Given the description of an element on the screen output the (x, y) to click on. 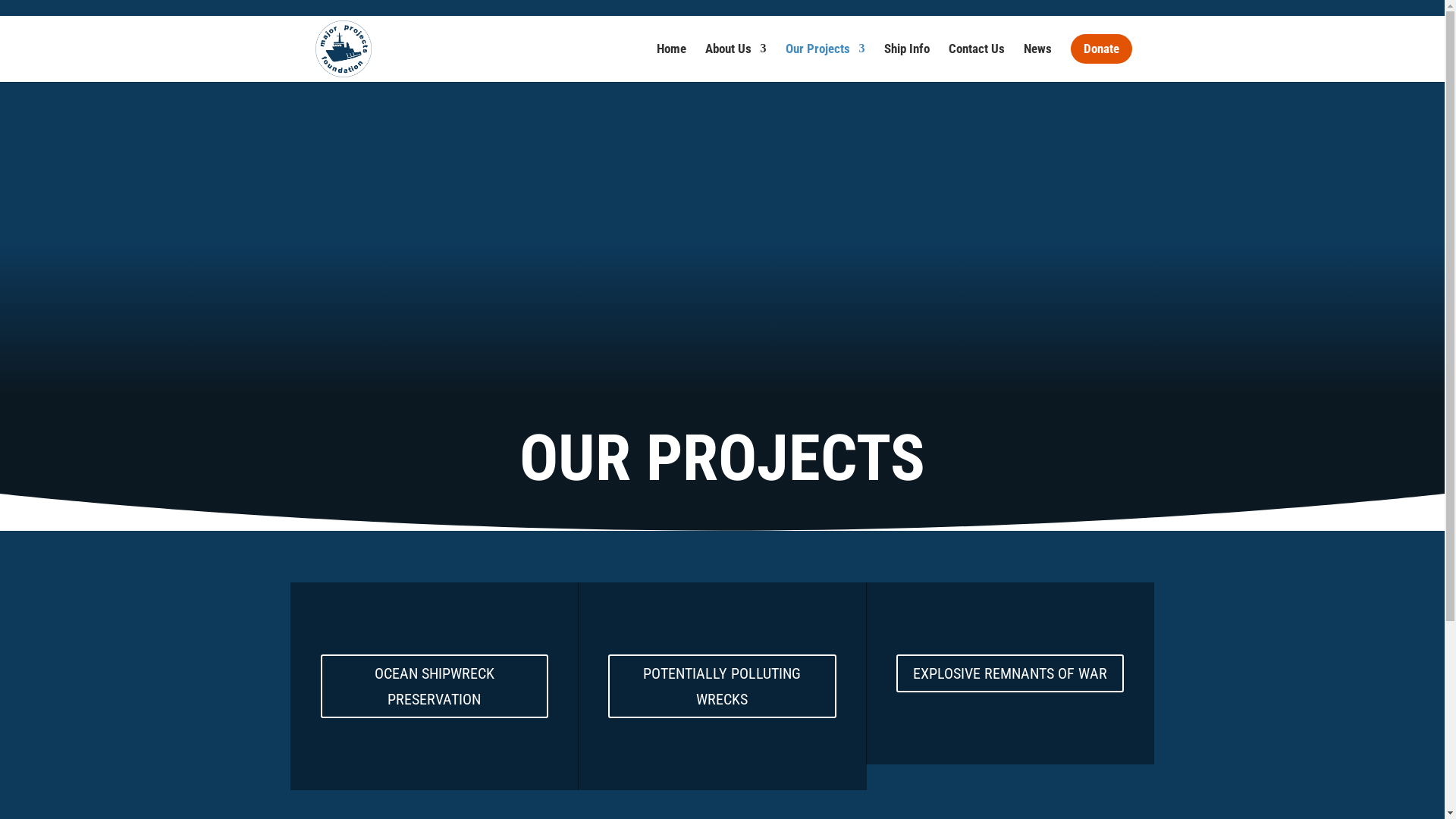
Our Projects Element type: text (825, 57)
Donate Element type: text (1101, 57)
POTENTIALLY POLLUTING WRECKS Element type: text (721, 686)
EXPLOSIVE REMNANTS OF WAR Element type: text (1009, 673)
About Us Element type: text (735, 57)
Ship Info Element type: text (906, 57)
OCEAN SHIPWRECK PRESERVATION Element type: text (433, 686)
News Element type: text (1037, 57)
Contact Us Element type: text (975, 57)
Home Element type: text (671, 57)
